Given the description of an element on the screen output the (x, y) to click on. 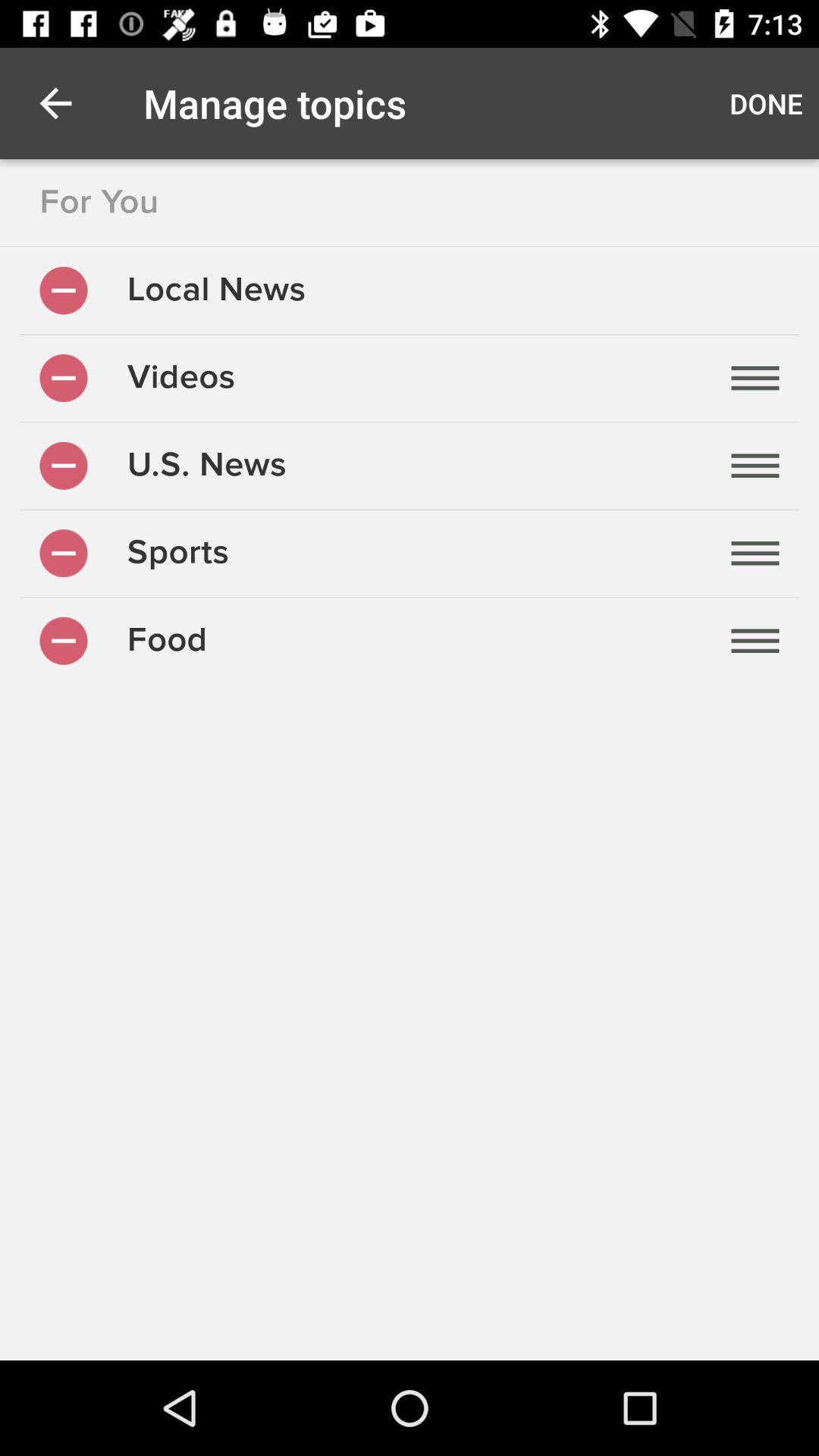
videos (63, 378)
